Given the description of an element on the screen output the (x, y) to click on. 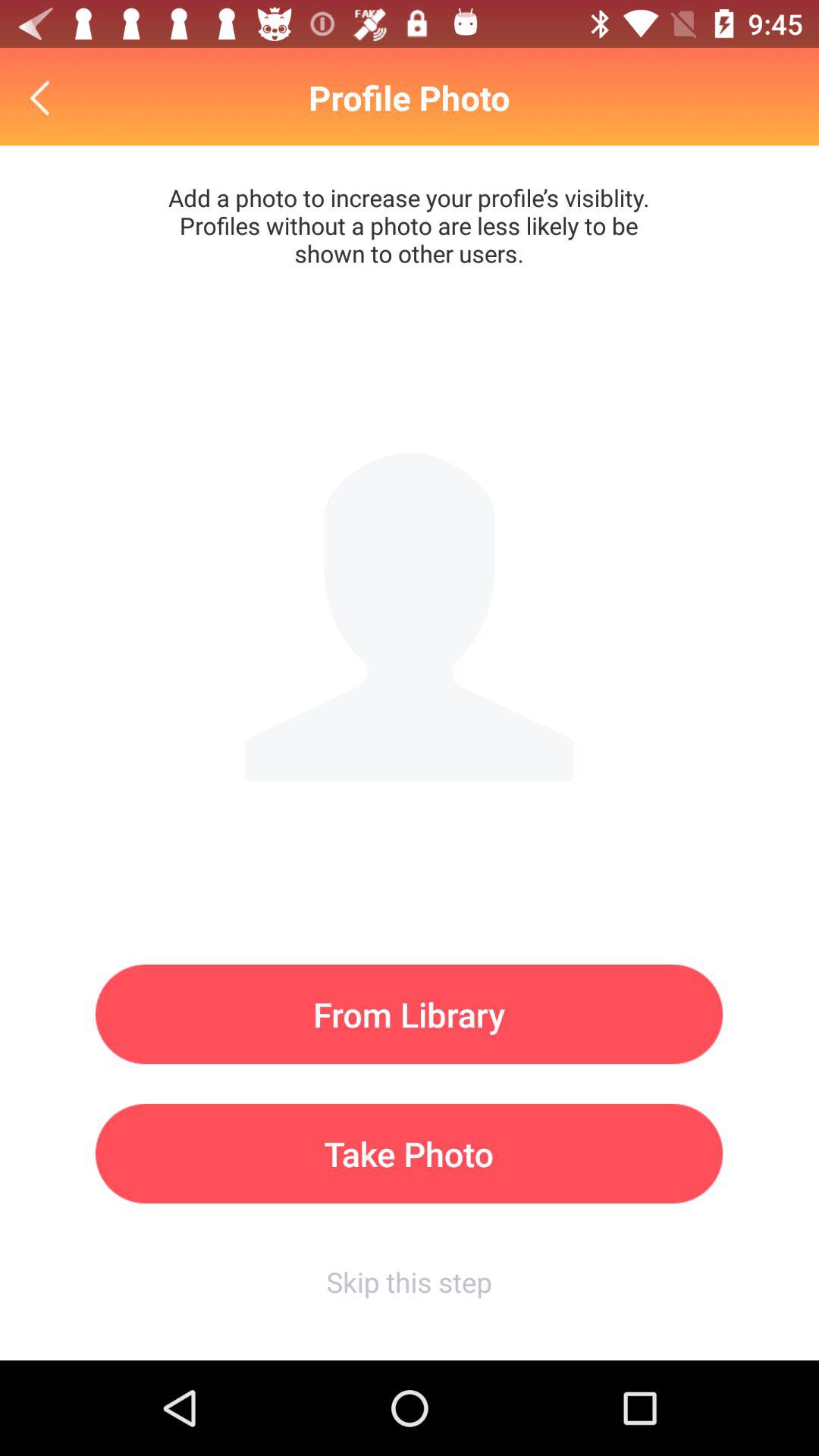
select icon above the from library icon (43, 97)
